Given the description of an element on the screen output the (x, y) to click on. 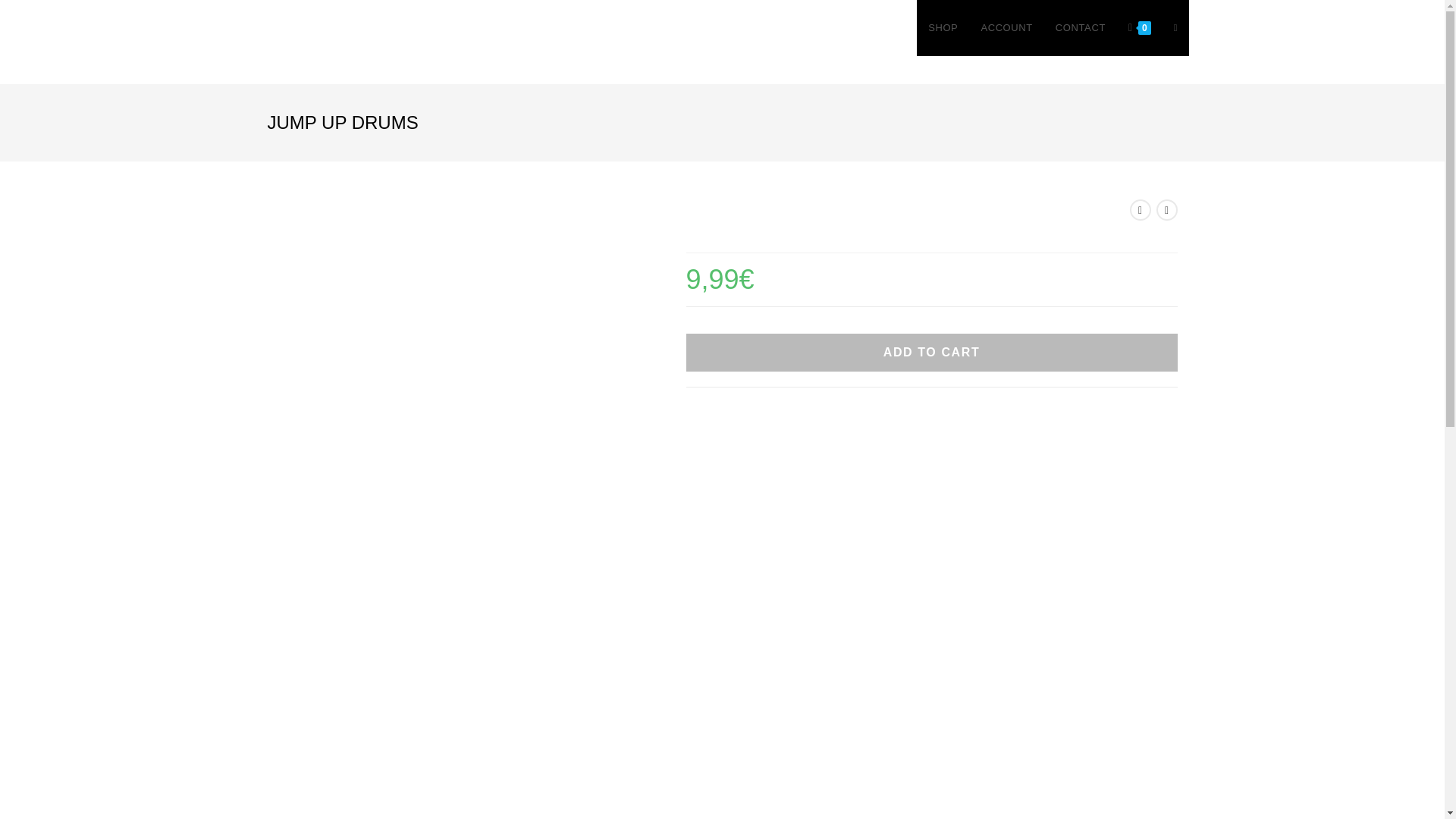
CONTACT (1079, 28)
SHOP (943, 28)
ADD TO CART (930, 352)
ACCOUNT (1006, 28)
